Given the description of an element on the screen output the (x, y) to click on. 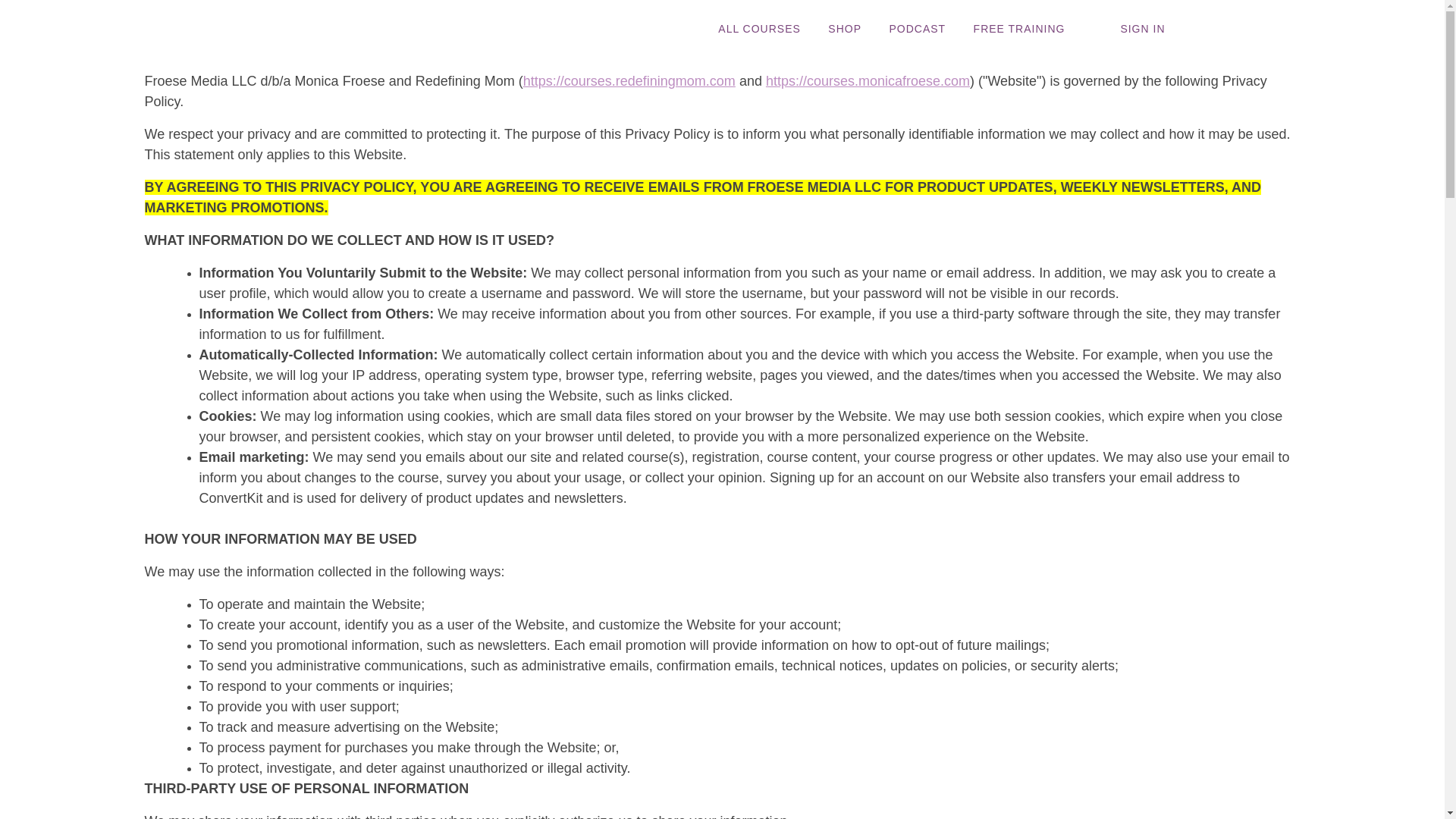
SHOP (844, 28)
FREE TRAINING (1019, 28)
PODCAST (916, 28)
SIGN IN (1141, 28)
ALL COURSES (758, 28)
